Given the description of an element on the screen output the (x, y) to click on. 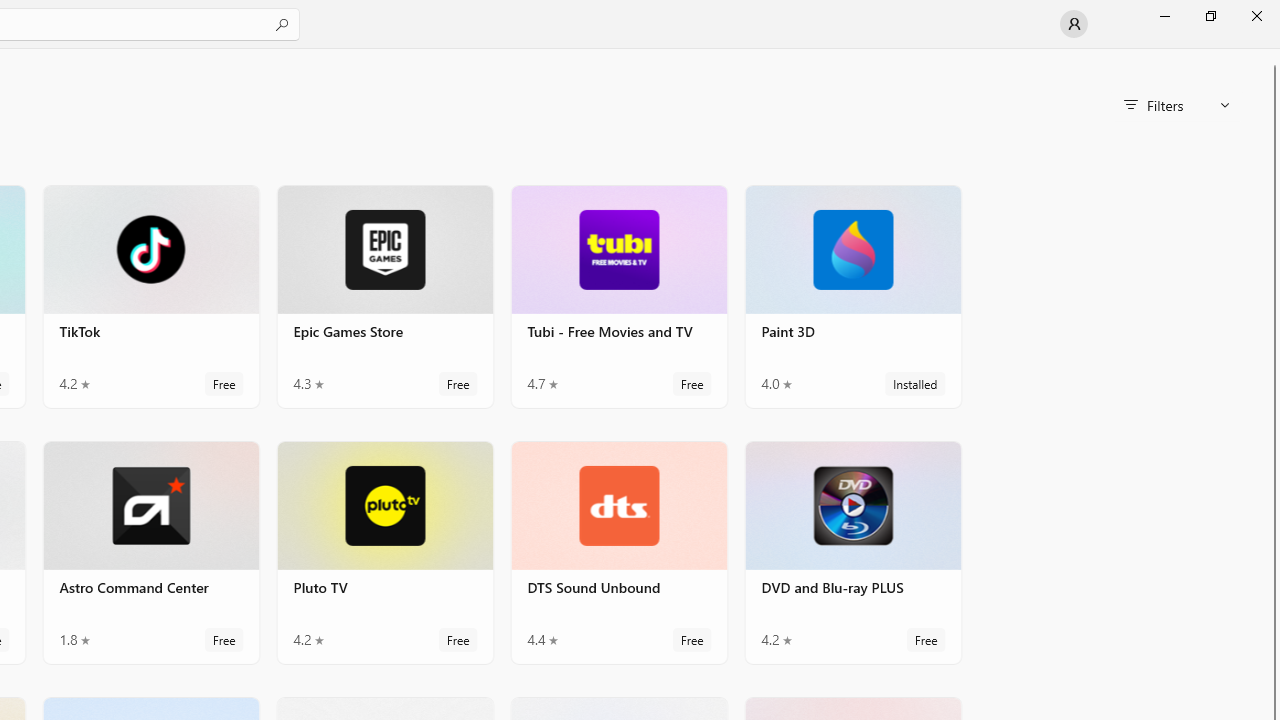
Vertical Small Decrease (1272, 55)
Restore Microsoft Store (1210, 15)
Pluto TV. Average rating of 4.2 out of five stars. Free   (385, 551)
Close Microsoft Store (1256, 15)
Filters (1176, 105)
Minimize Microsoft Store (1164, 15)
User profile (1073, 24)
TikTok. Average rating of 4.2 out of five stars. Free   (150, 296)
